Given the description of an element on the screen output the (x, y) to click on. 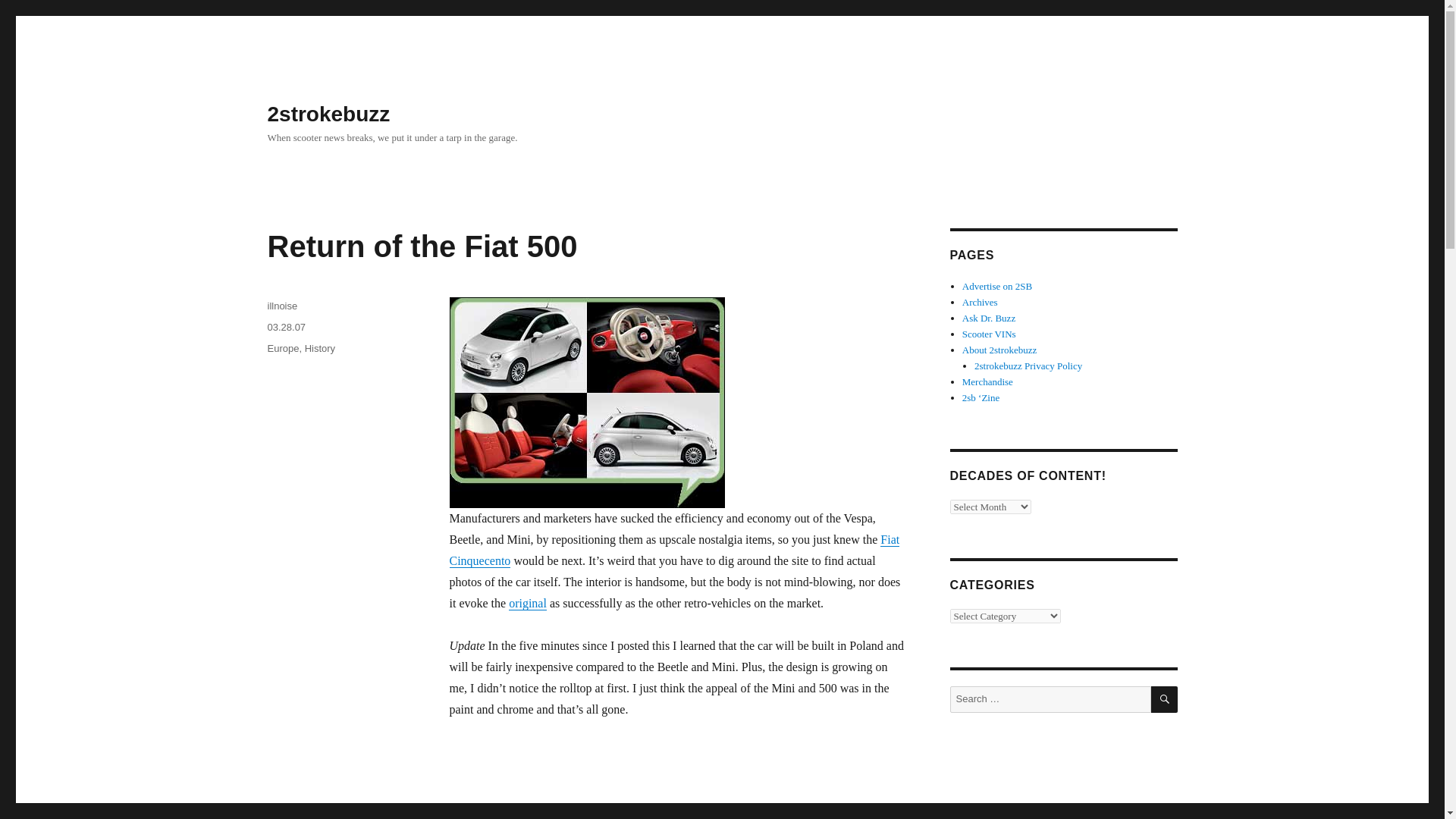
2strokebuzz (328, 114)
Merchandise (987, 381)
Ask Dr. Buzz (988, 317)
Archives (979, 301)
03.28.07 (285, 326)
Europe (282, 348)
About 2strokebuzz (999, 349)
illnoise (281, 306)
History (319, 348)
Advertise on 2SB (997, 285)
